Given the description of an element on the screen output the (x, y) to click on. 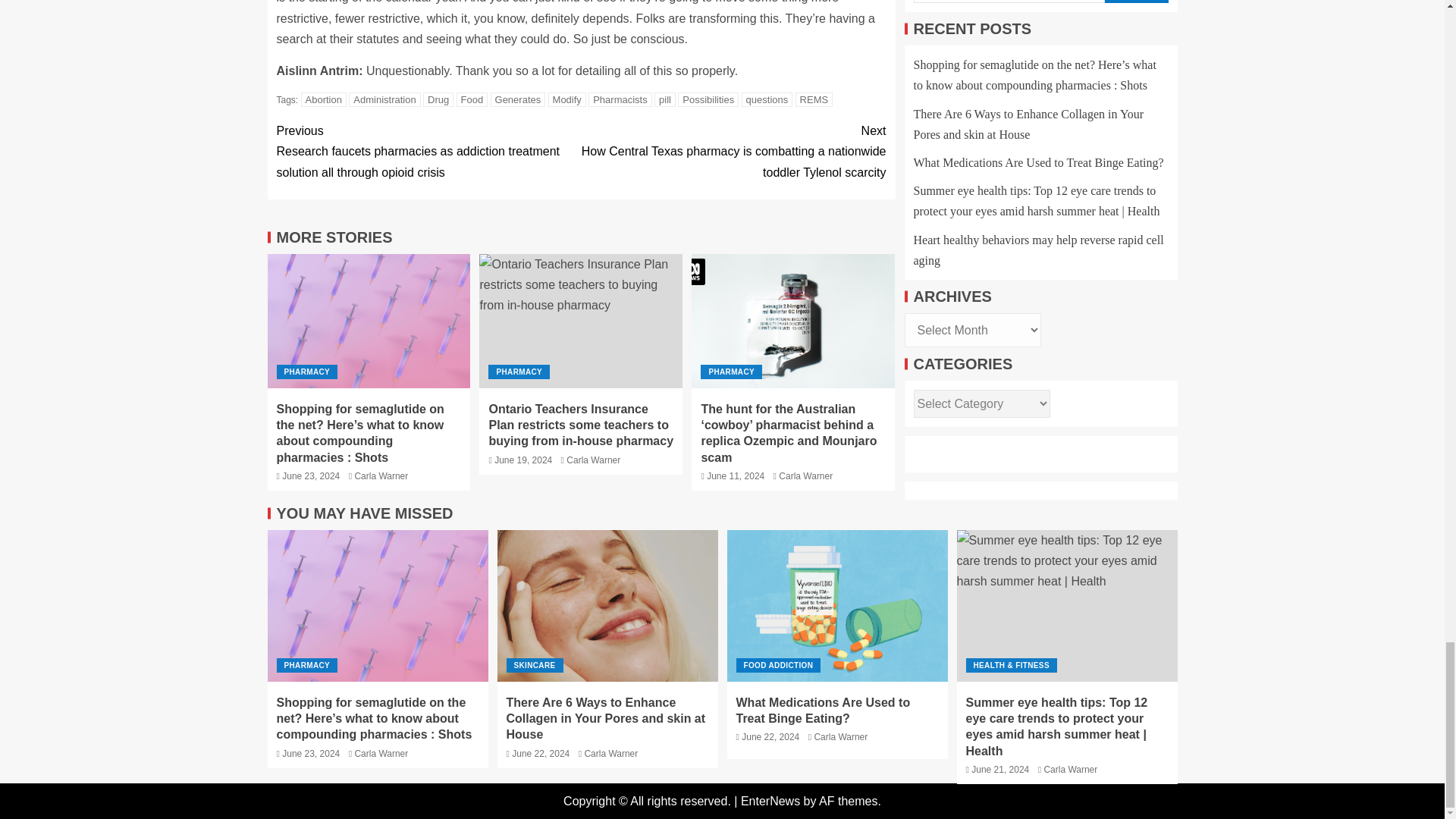
pill (664, 99)
Abortion (323, 99)
REMS (813, 99)
PHARMACY (306, 371)
Modify (567, 99)
Carla Warner (380, 475)
Generates (518, 99)
questions (767, 99)
Pharmacists (620, 99)
What Medications Are Used to Treat Binge Eating? (836, 605)
Drug (437, 99)
